Given the description of an element on the screen output the (x, y) to click on. 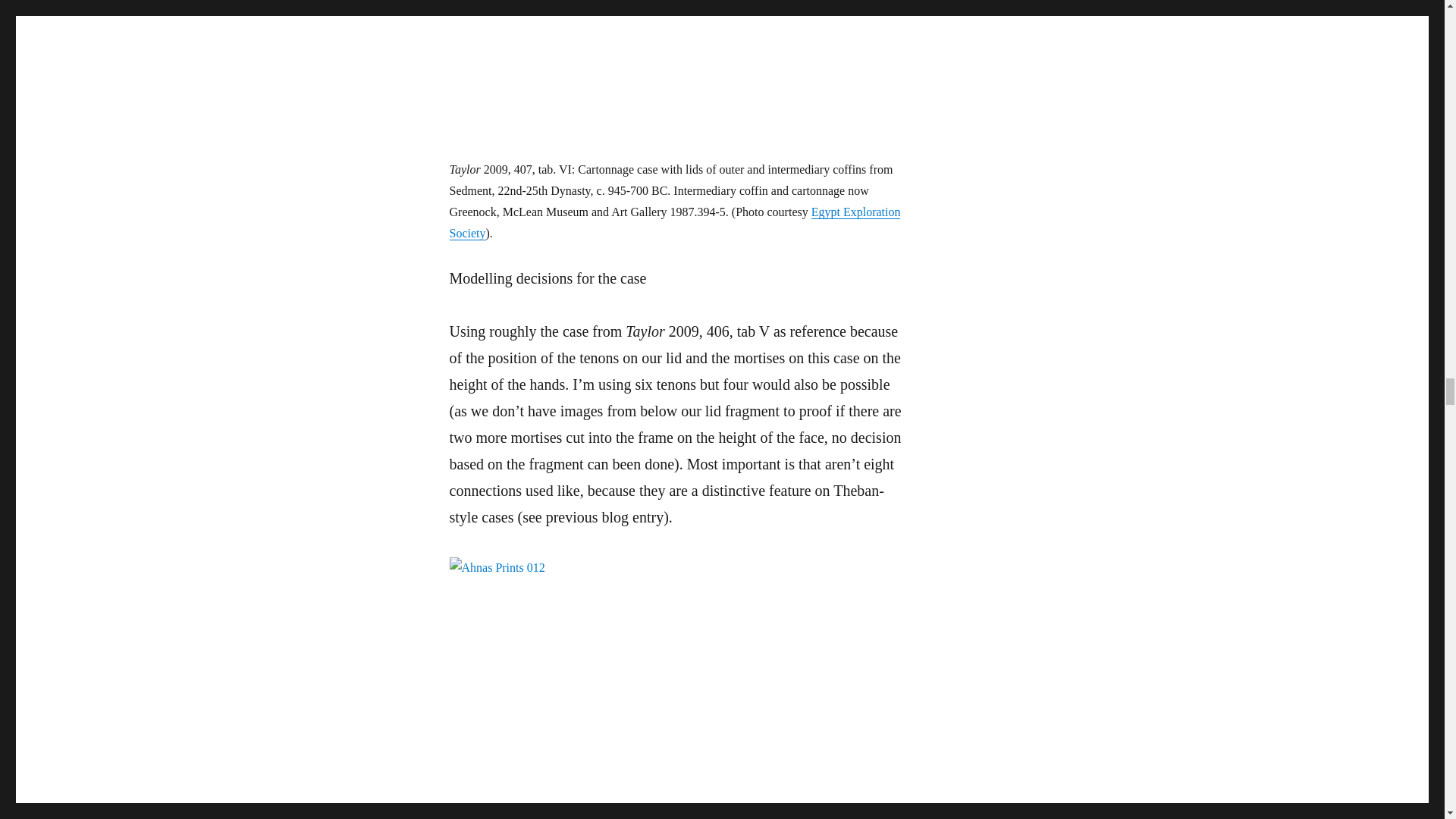
Ahnas Prints 012 (676, 688)
Ahnas Prints 015 (676, 79)
Egypt Exploration Society (673, 222)
